Given the description of an element on the screen output the (x, y) to click on. 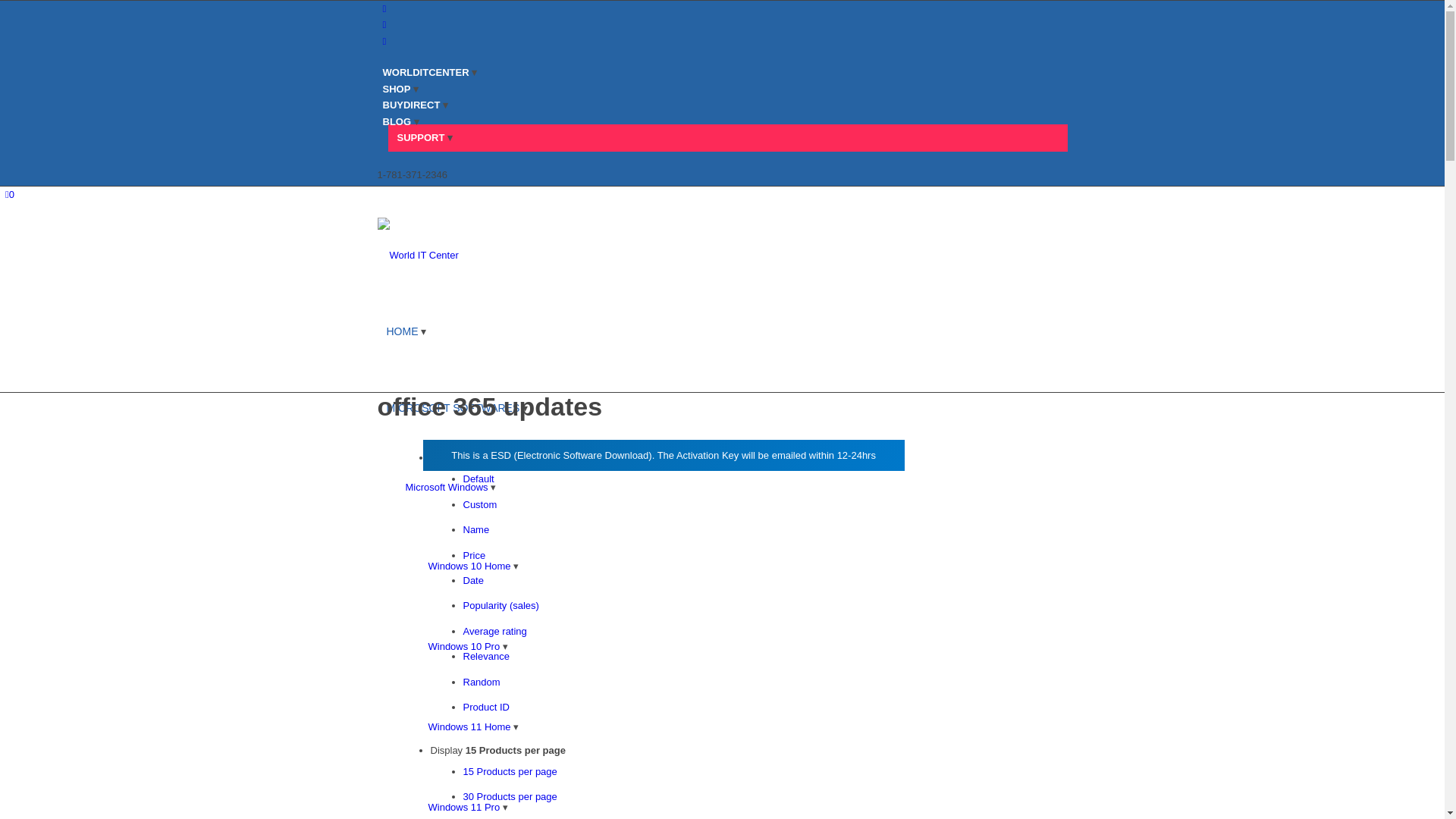
MICROSOFT SOFTWARES (456, 408)
witc (491, 255)
HOME (405, 331)
BLOG (400, 121)
witc (491, 255)
Windows 11 Home (473, 726)
Windows 10 Home (473, 565)
Windows 11 Pro (467, 807)
WORLDITCENTER (429, 71)
Windows 10 Pro (467, 645)
